Given the description of an element on the screen output the (x, y) to click on. 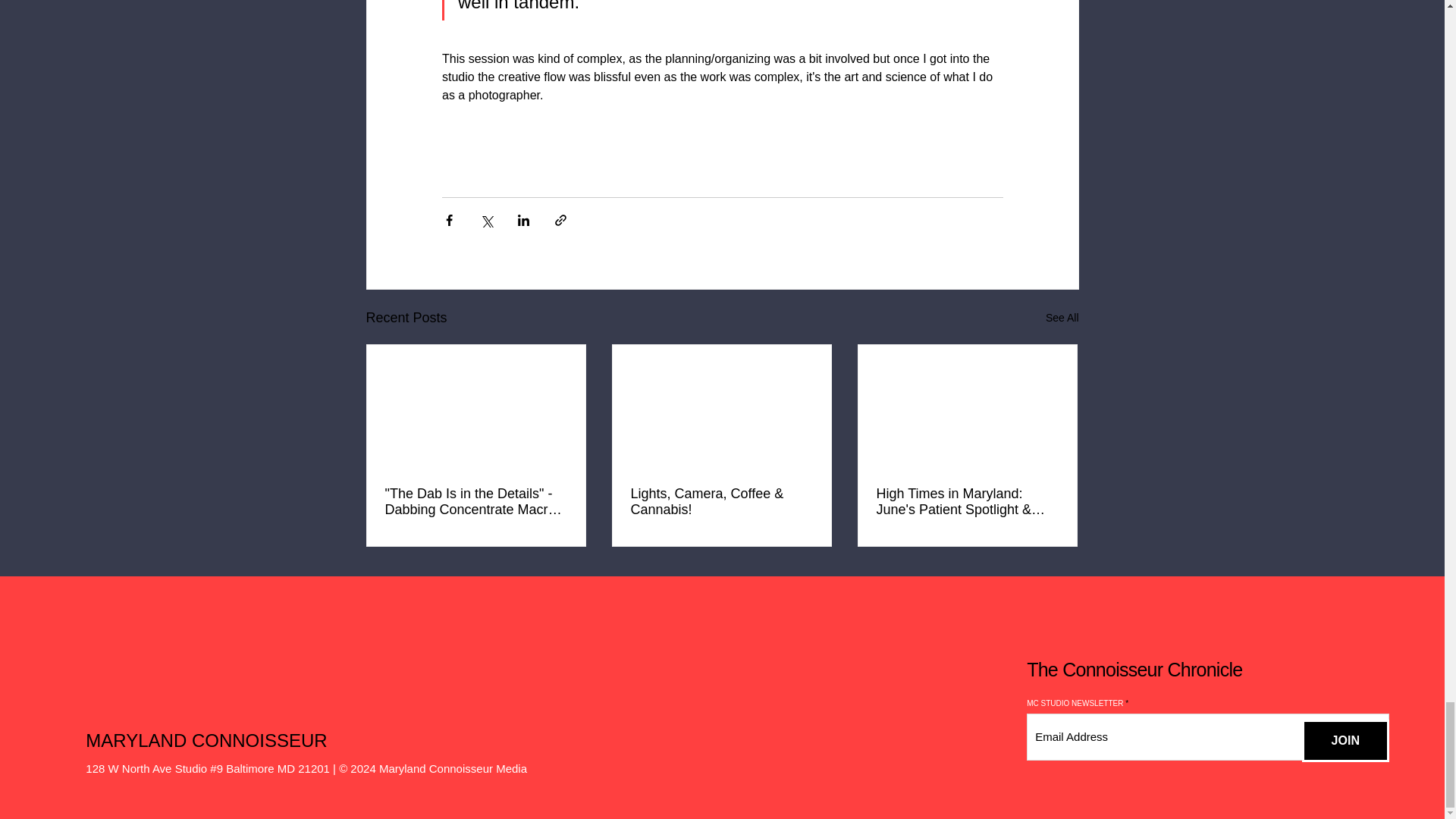
See All (1061, 318)
MARYLAND CONNOISSEUR (205, 740)
JOIN (1345, 740)
